Given the description of an element on the screen output the (x, y) to click on. 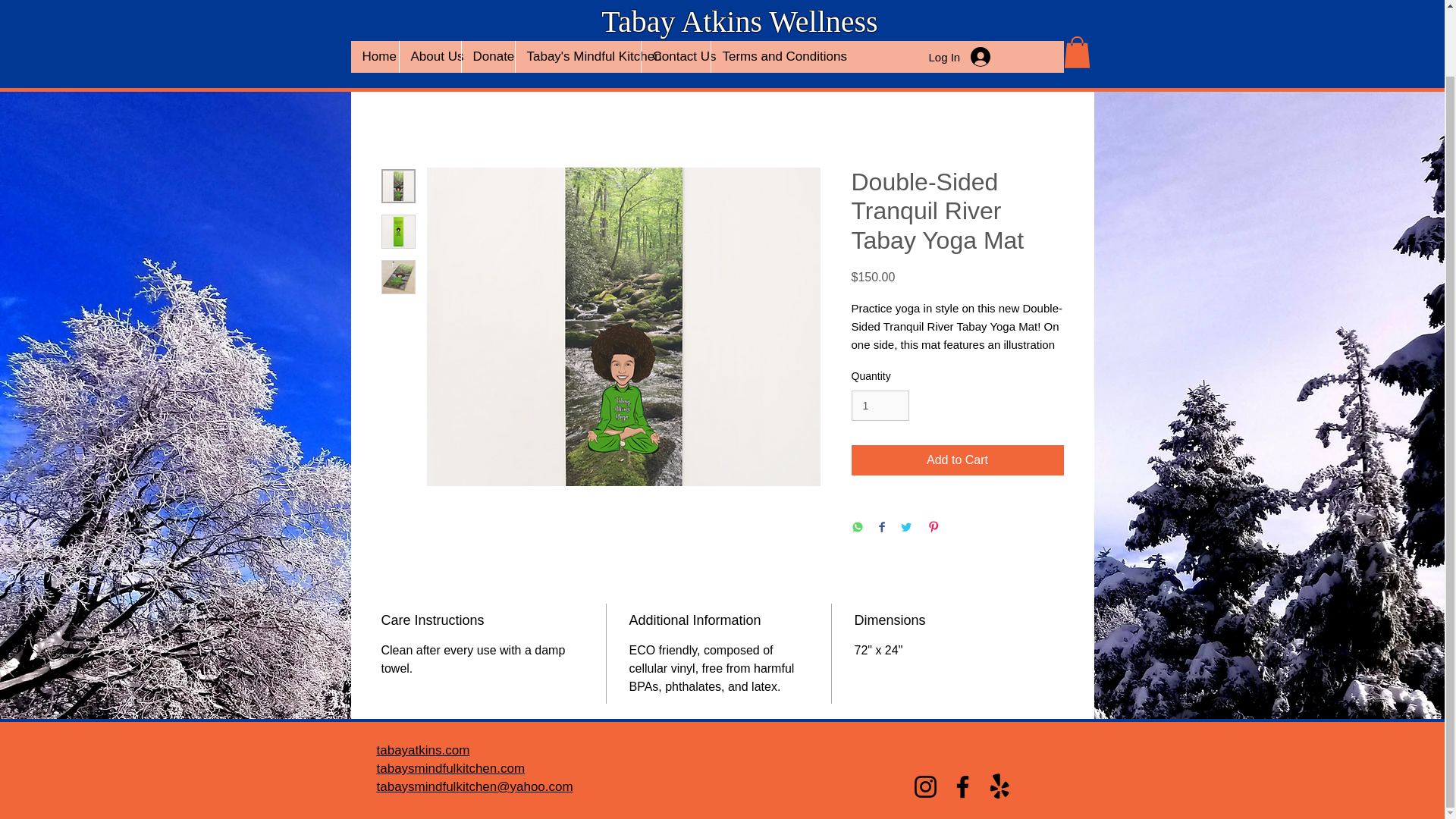
1 (879, 405)
tabaysmindfulkitchen.com (449, 768)
Add to Cart (956, 460)
tabayatkins.com (421, 749)
